Given the description of an element on the screen output the (x, y) to click on. 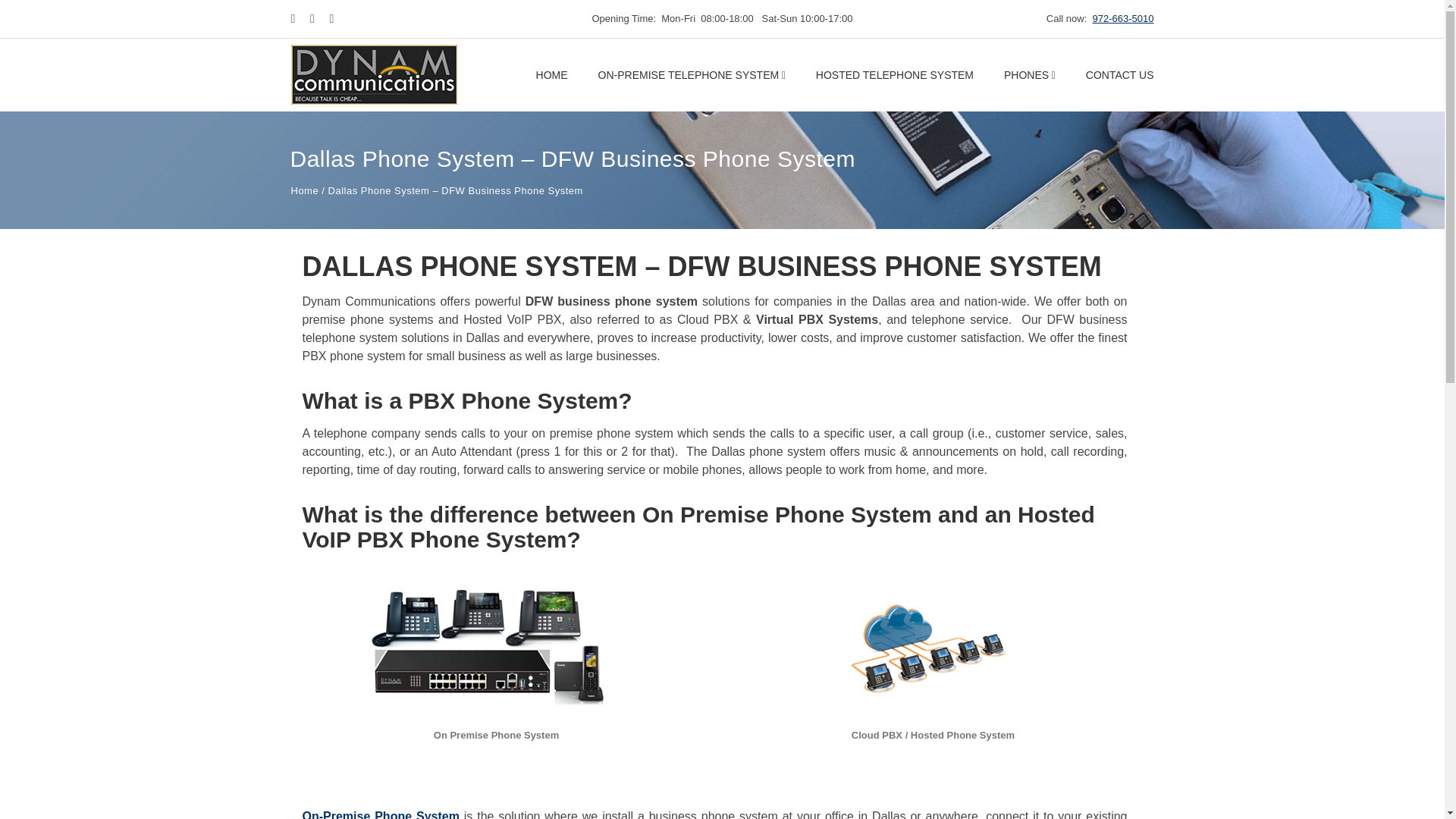
972-663-5010 (1123, 18)
Go to Phone Repair. (304, 190)
Home (304, 190)
HOSTED TELEPHONE SYSTEM (894, 74)
CONTACT US (1120, 74)
On-Premise Phone System (379, 814)
ON-PREMISE TELEPHONE SYSTEM (692, 74)
HOME (551, 74)
PHONES (1029, 74)
